Given the description of an element on the screen output the (x, y) to click on. 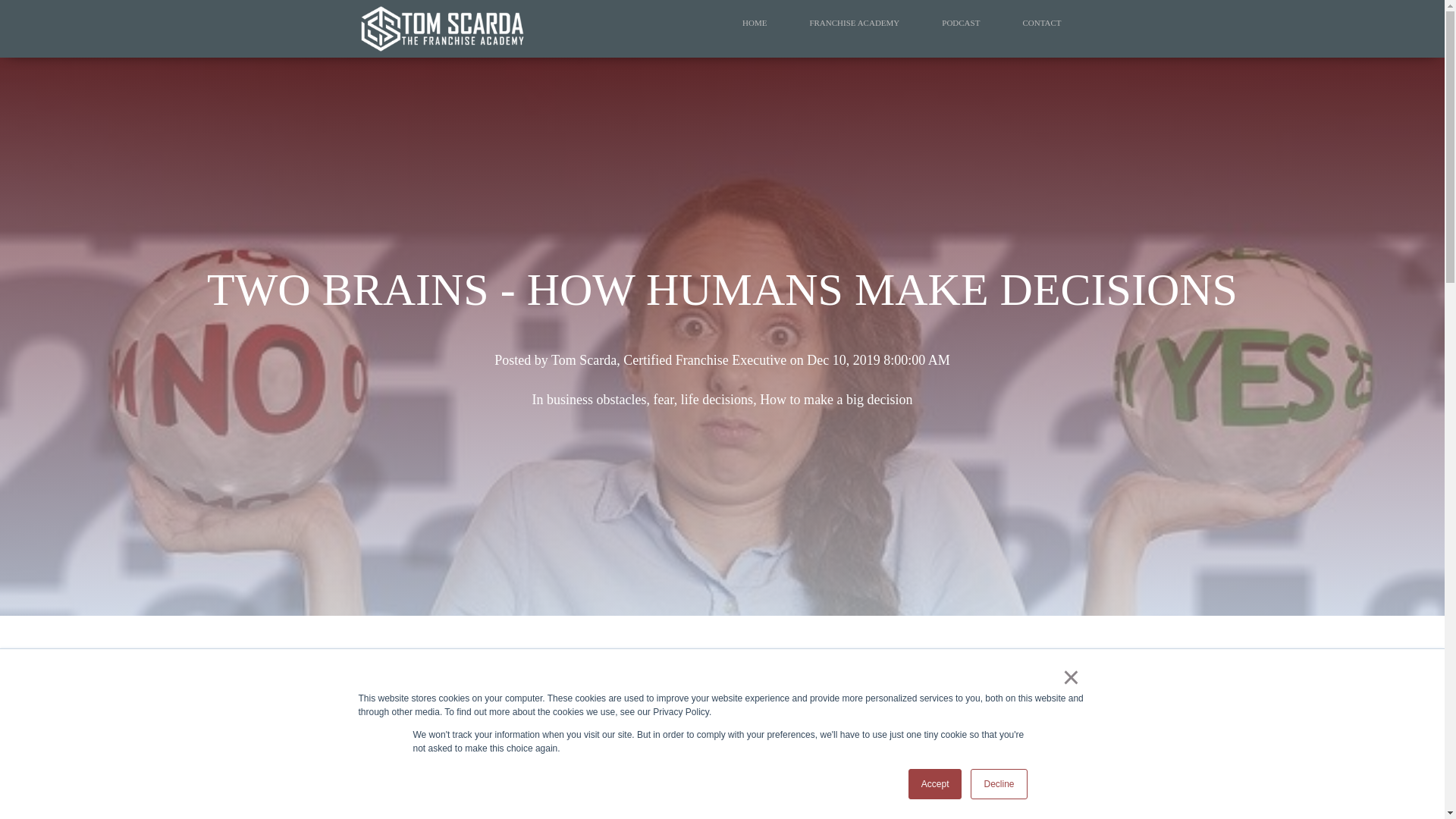
Accept (935, 784)
HOME (753, 22)
How to make a big decision (836, 399)
TSPNG copywhite (441, 29)
PODCAST (960, 22)
FRANCHISE ACADEMY (853, 22)
Decline (998, 784)
CONTACT (1041, 22)
fear (662, 399)
Tom Scarda, Certified Franchise Executive (668, 359)
life decisions (716, 399)
business obstacles (596, 399)
